Given the description of an element on the screen output the (x, y) to click on. 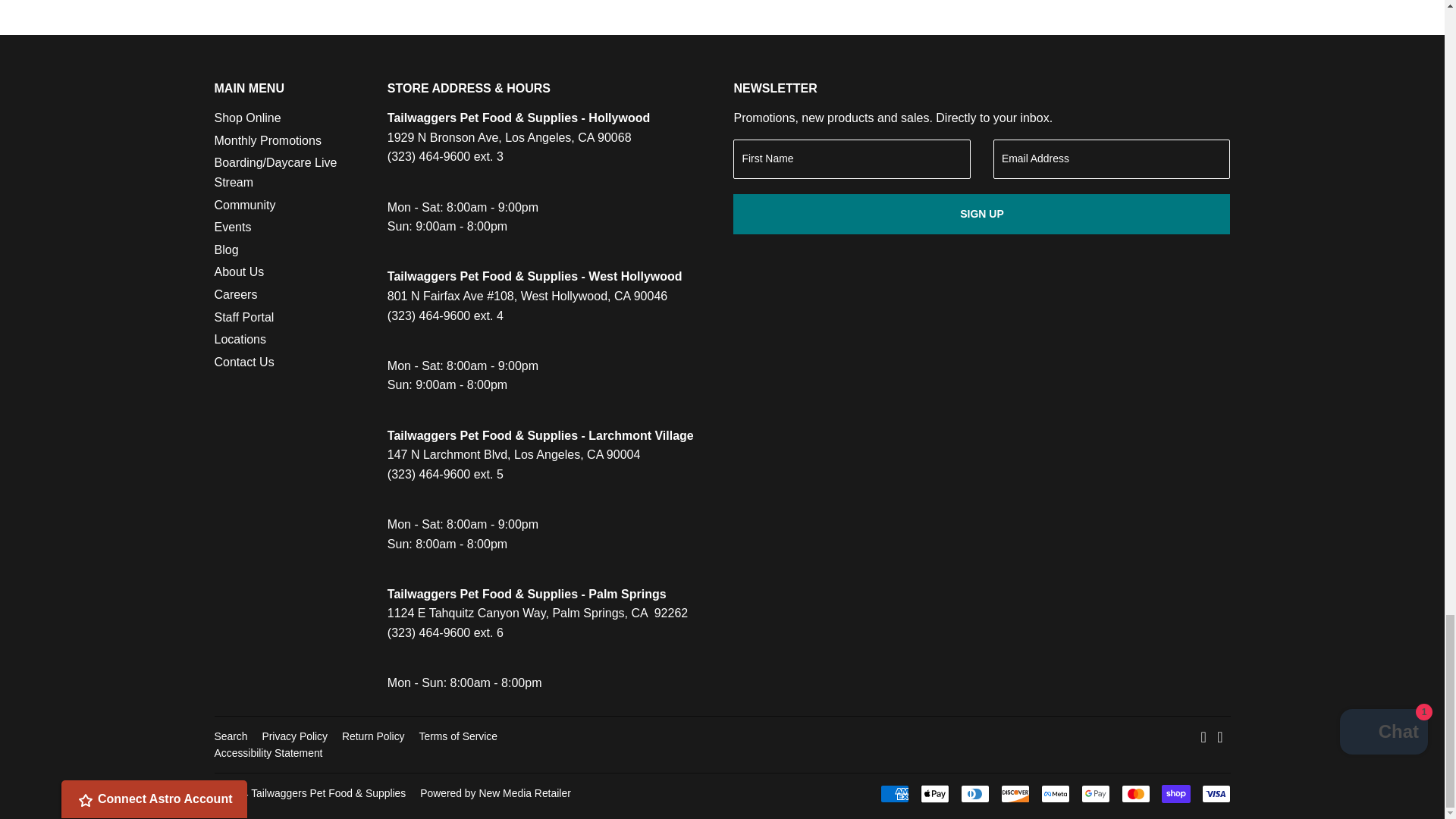
New Media Retailer (495, 793)
Shop Pay (1176, 793)
Google Pay (1095, 793)
Mastercard (1135, 793)
American Express (893, 793)
Apple Pay (934, 793)
Diners Club (973, 793)
Discover (1015, 793)
Meta Pay (1054, 793)
Visa (1215, 793)
